Given the description of an element on the screen output the (x, y) to click on. 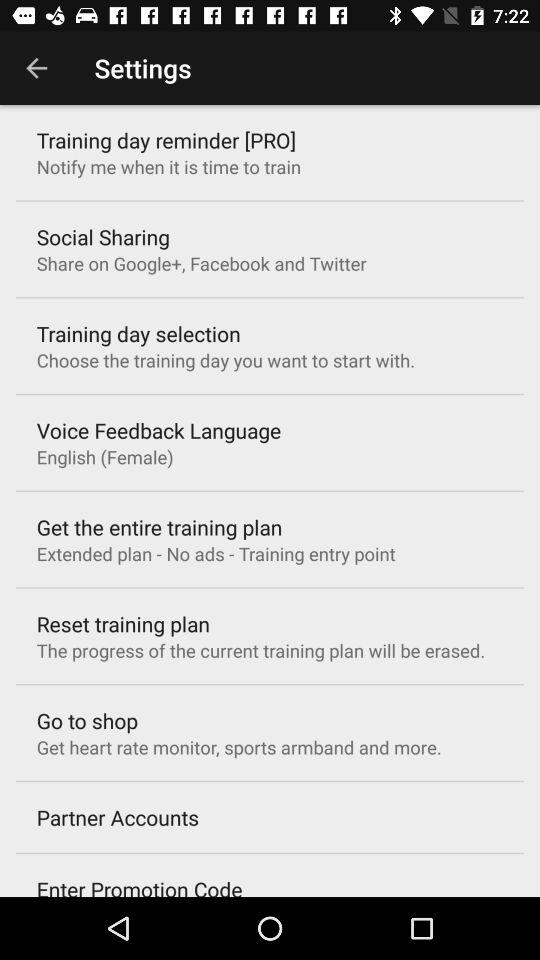
swipe to the get heart rate item (238, 747)
